Given the description of an element on the screen output the (x, y) to click on. 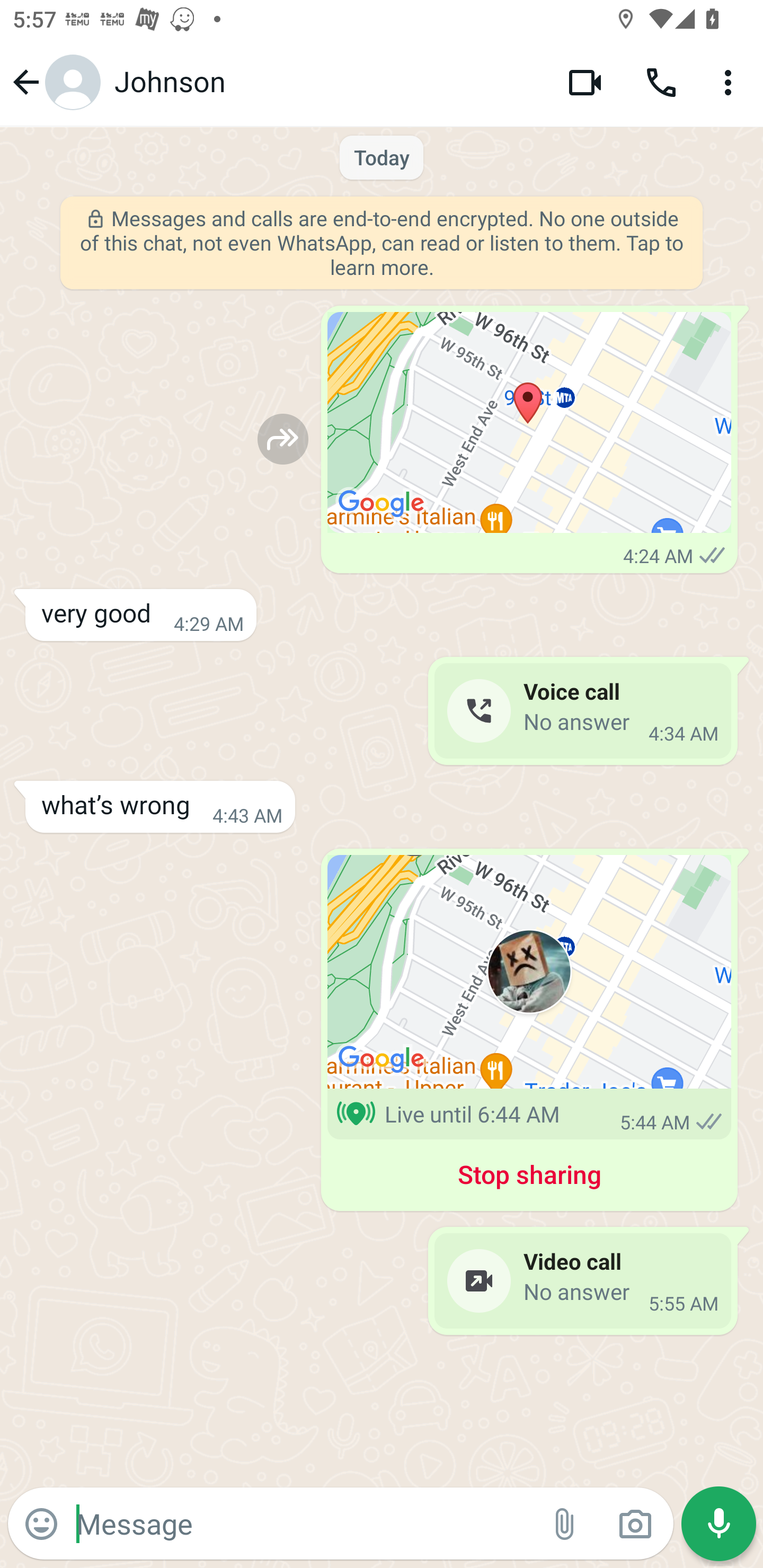
Johnson (327, 82)
Navigate up (54, 82)
Video call (585, 81)
Voice call (661, 81)
More options (731, 81)
Location (528, 422)
Forward to… (282, 438)
Live location (528, 971)
Stop sharing (529, 1178)
Emoji (41, 1523)
Attach (565, 1523)
Camera (634, 1523)
Message (303, 1523)
